Given the description of an element on the screen output the (x, y) to click on. 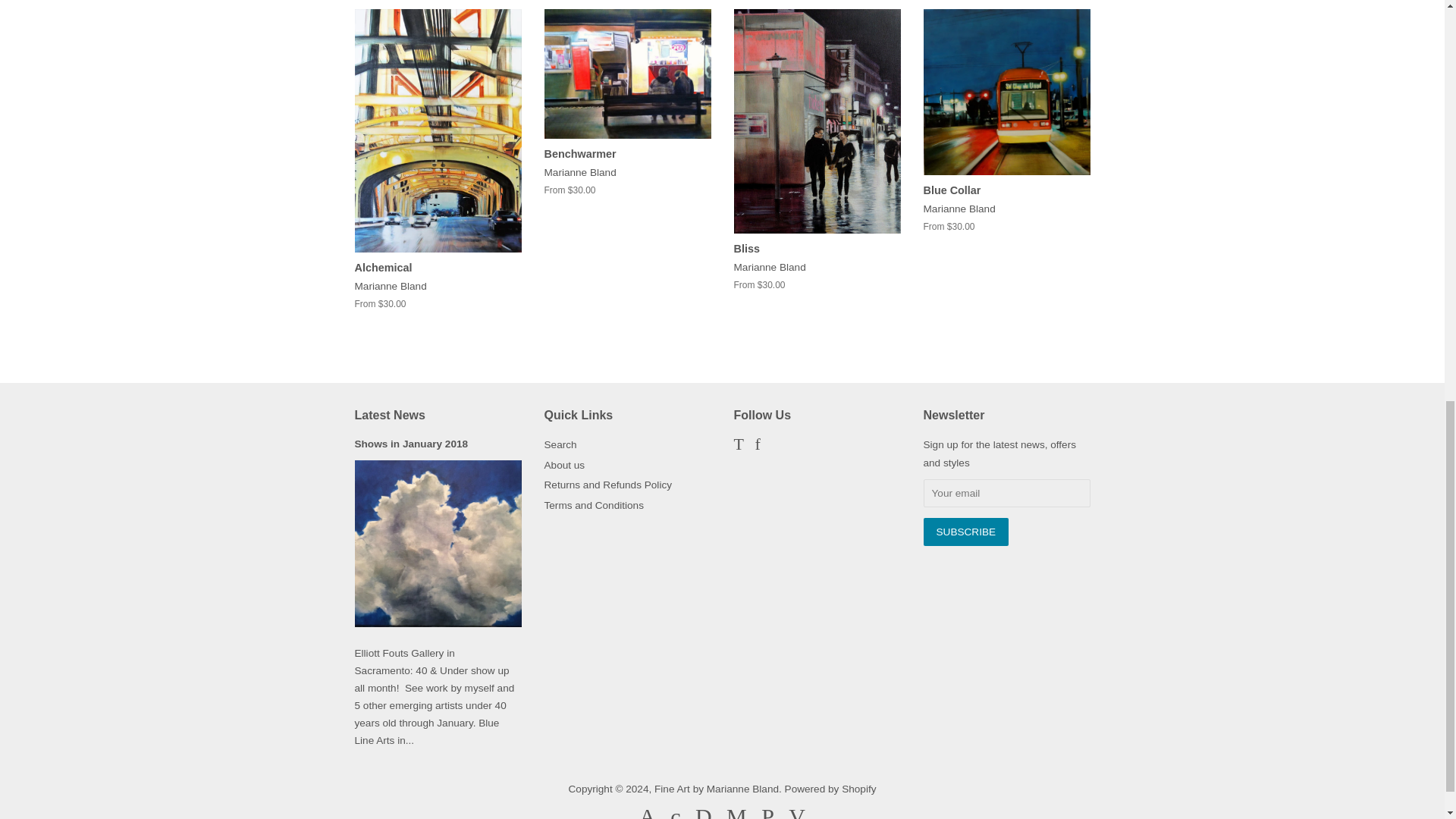
Subscribe (966, 531)
Shows in January 2018 (411, 443)
Latest News (390, 414)
